Given the description of an element on the screen output the (x, y) to click on. 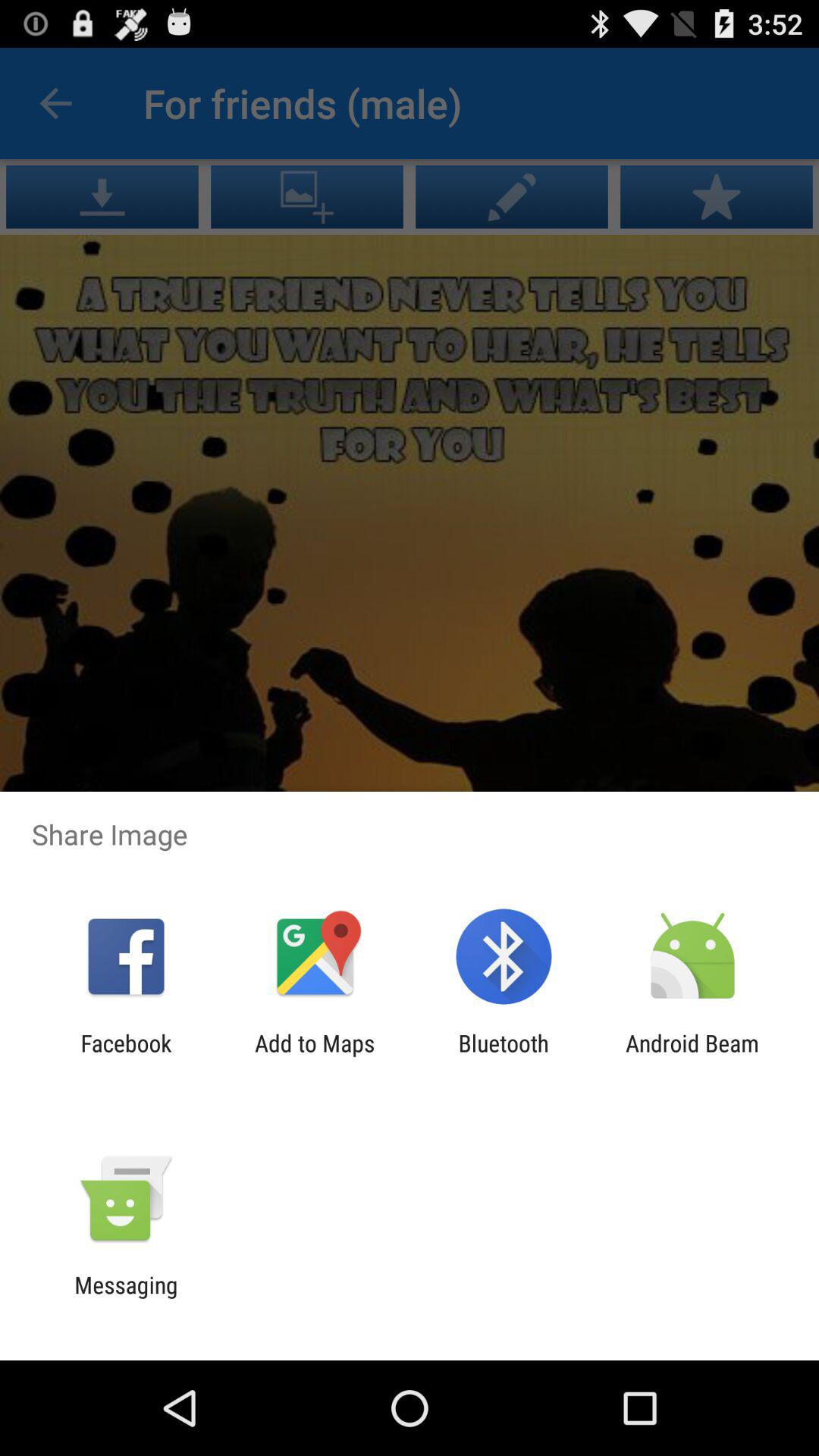
turn off icon next to bluetooth (314, 1056)
